Given the description of an element on the screen output the (x, y) to click on. 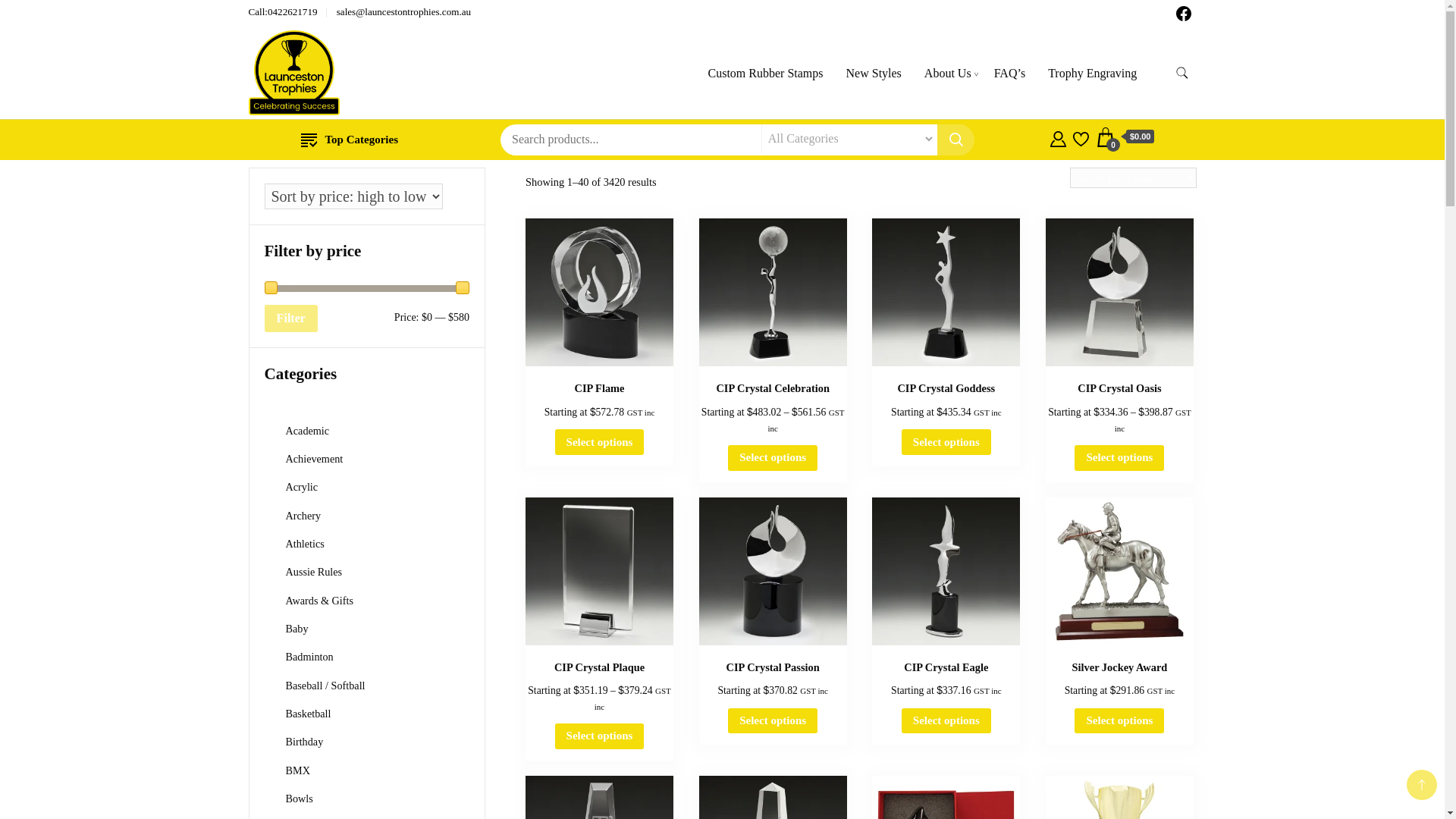
My Account (1057, 136)
Products in Wishlist (1081, 136)
New Styles (873, 73)
Top Categories (349, 139)
Trophy Engraving (1092, 73)
Custom Rubber Stamps (764, 73)
About Us (947, 73)
Cart (1125, 137)
